Given the description of an element on the screen output the (x, y) to click on. 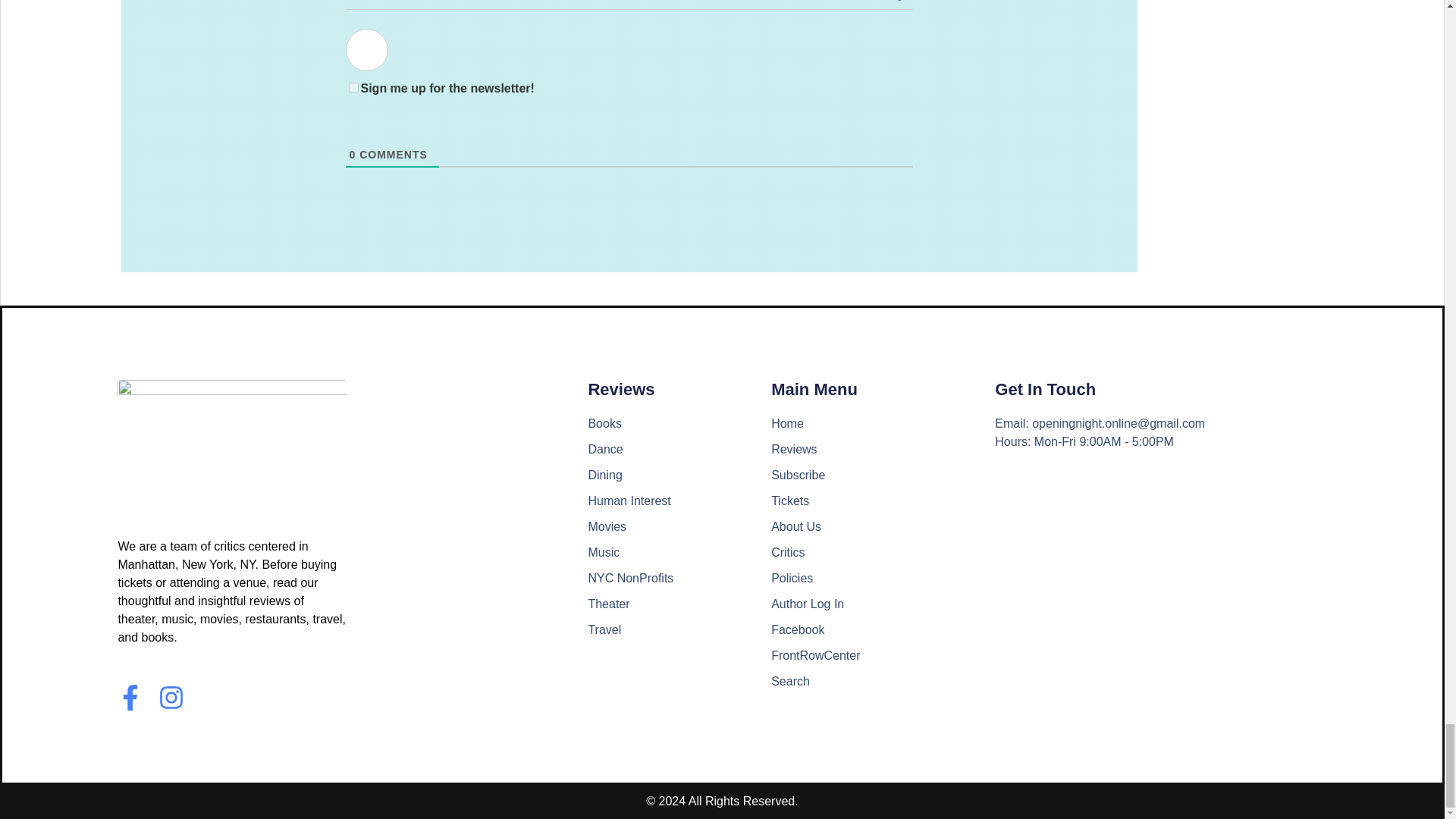
1 (353, 87)
